Given the description of an element on the screen output the (x, y) to click on. 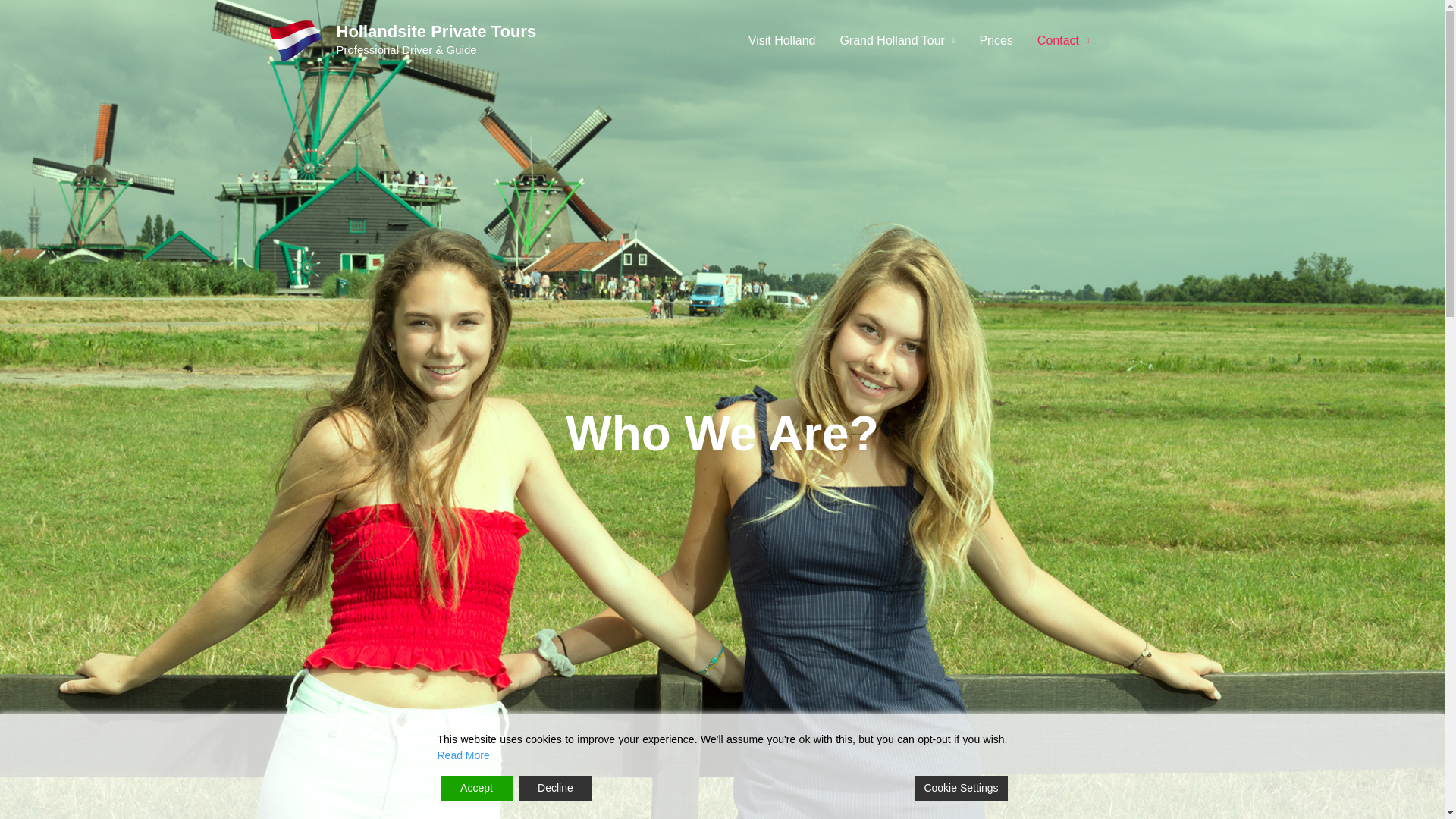
Hollandsite Private Tours (436, 31)
Grand Holland Tour (896, 39)
Contact (1063, 39)
Read More (462, 755)
Visit Holland (782, 39)
Cookie Settings (960, 787)
Decline (554, 787)
Prices (995, 39)
Accept (475, 787)
